Given the description of an element on the screen output the (x, y) to click on. 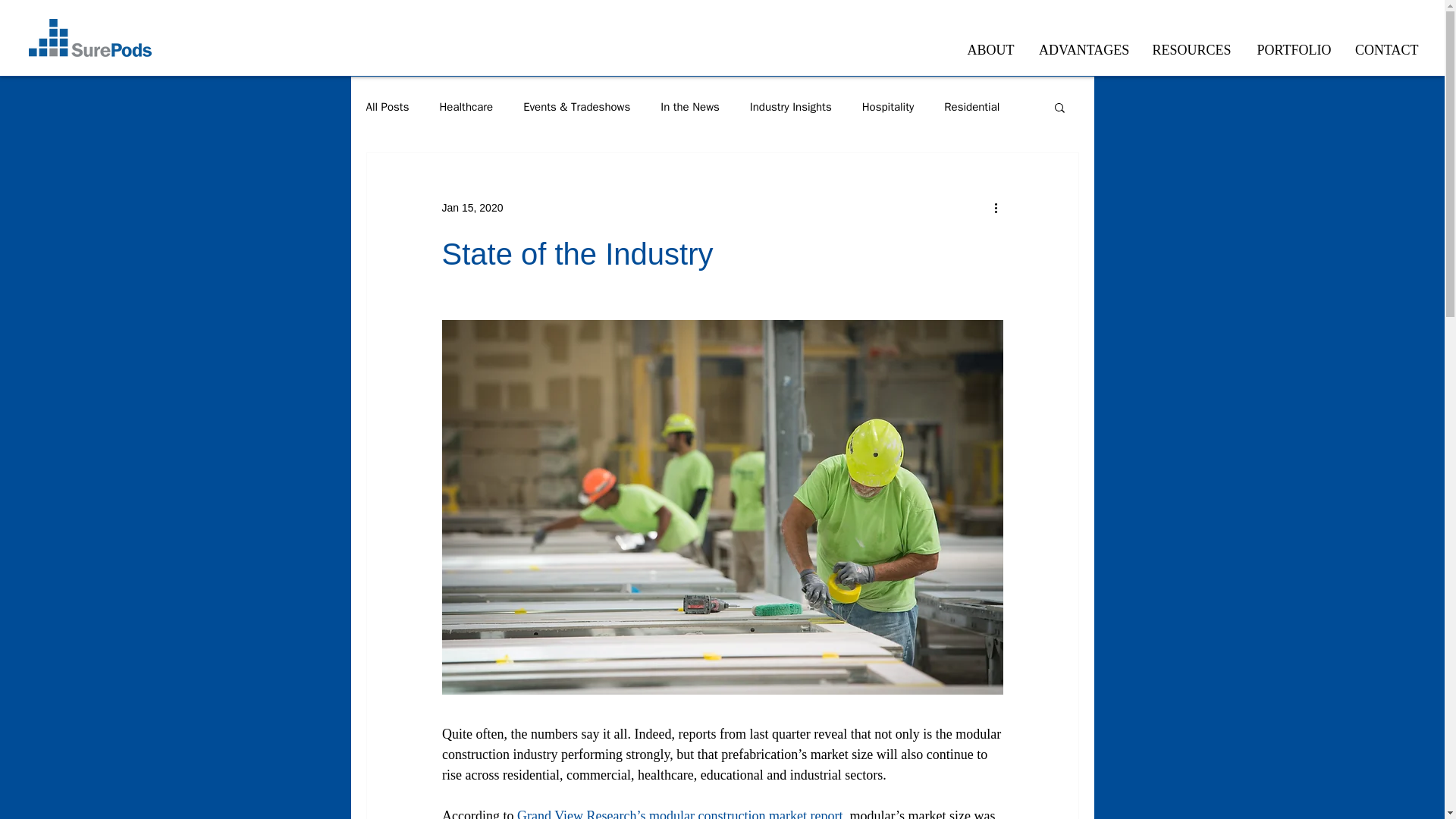
Healthcare (466, 106)
Hospitality (887, 106)
PORTFOLIO (1293, 50)
Residential (970, 106)
Log In (1045, 38)
All Posts (387, 106)
RESOURCES (1191, 50)
ADVANTAGES (1082, 50)
Jan 15, 2020 (471, 207)
Industry Insights (790, 106)
ABOUT (990, 50)
In the News (690, 106)
CONTACT (1386, 50)
